Given the description of an element on the screen output the (x, y) to click on. 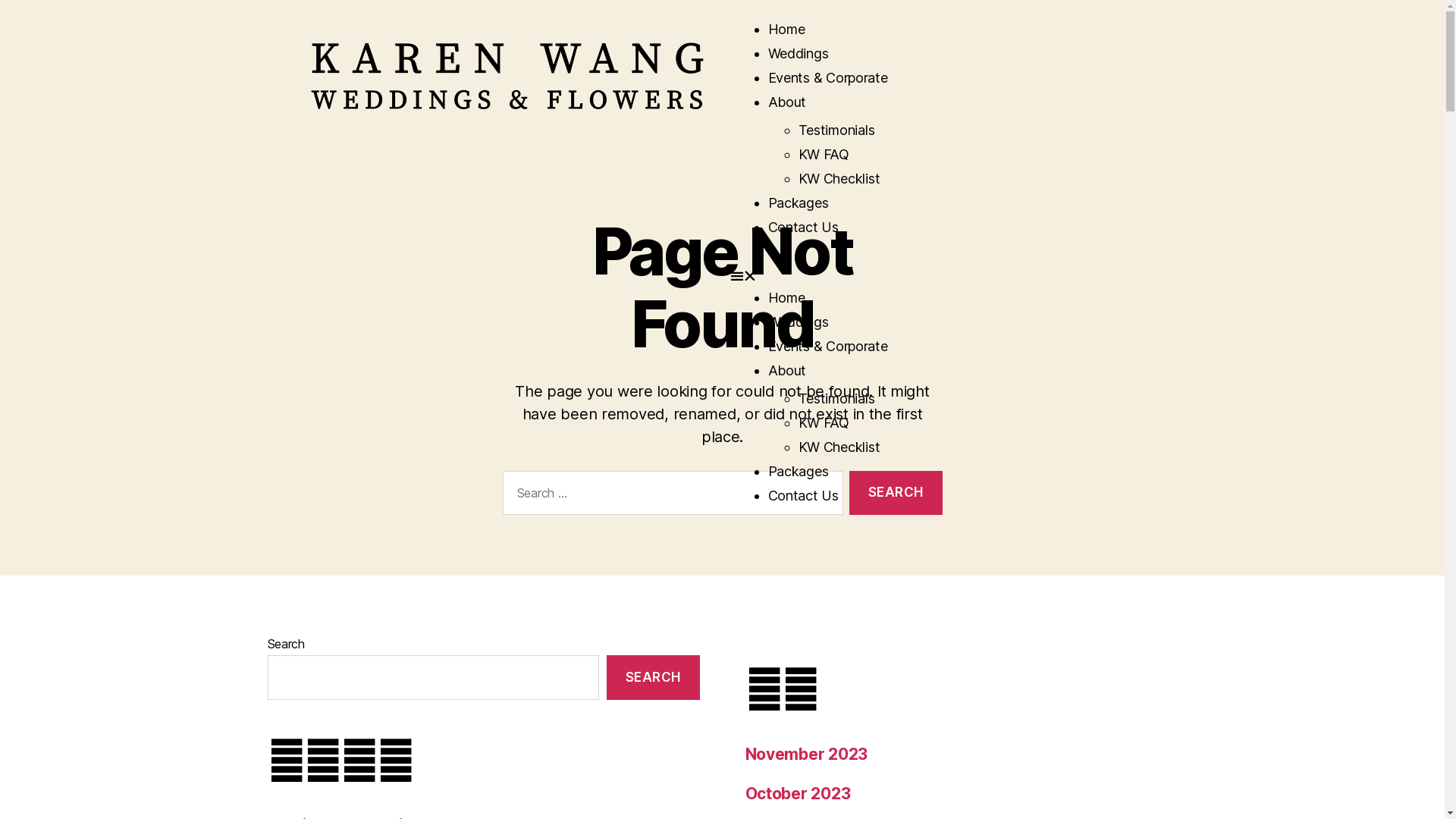
Events & Corporate Element type: text (827, 77)
SEARCH Element type: text (652, 677)
November 2023 Element type: text (805, 753)
Home Element type: text (785, 29)
October 2023 Element type: text (797, 793)
Contact Us Element type: text (802, 495)
Packages Element type: text (797, 202)
KW Checklist Element type: text (838, 178)
KW Checklist Element type: text (838, 447)
Testimonials Element type: text (835, 130)
Home Element type: text (785, 297)
Packages Element type: text (797, 471)
Weddings Element type: text (797, 321)
KW FAQ Element type: text (822, 154)
Weddings Element type: text (797, 53)
Testimonials Element type: text (835, 398)
KW FAQ Element type: text (822, 422)
About Element type: text (786, 370)
About Element type: text (786, 101)
Contact Us Element type: text (802, 227)
Events & Corporate Element type: text (827, 346)
Search Element type: text (895, 492)
